Given the description of an element on the screen output the (x, y) to click on. 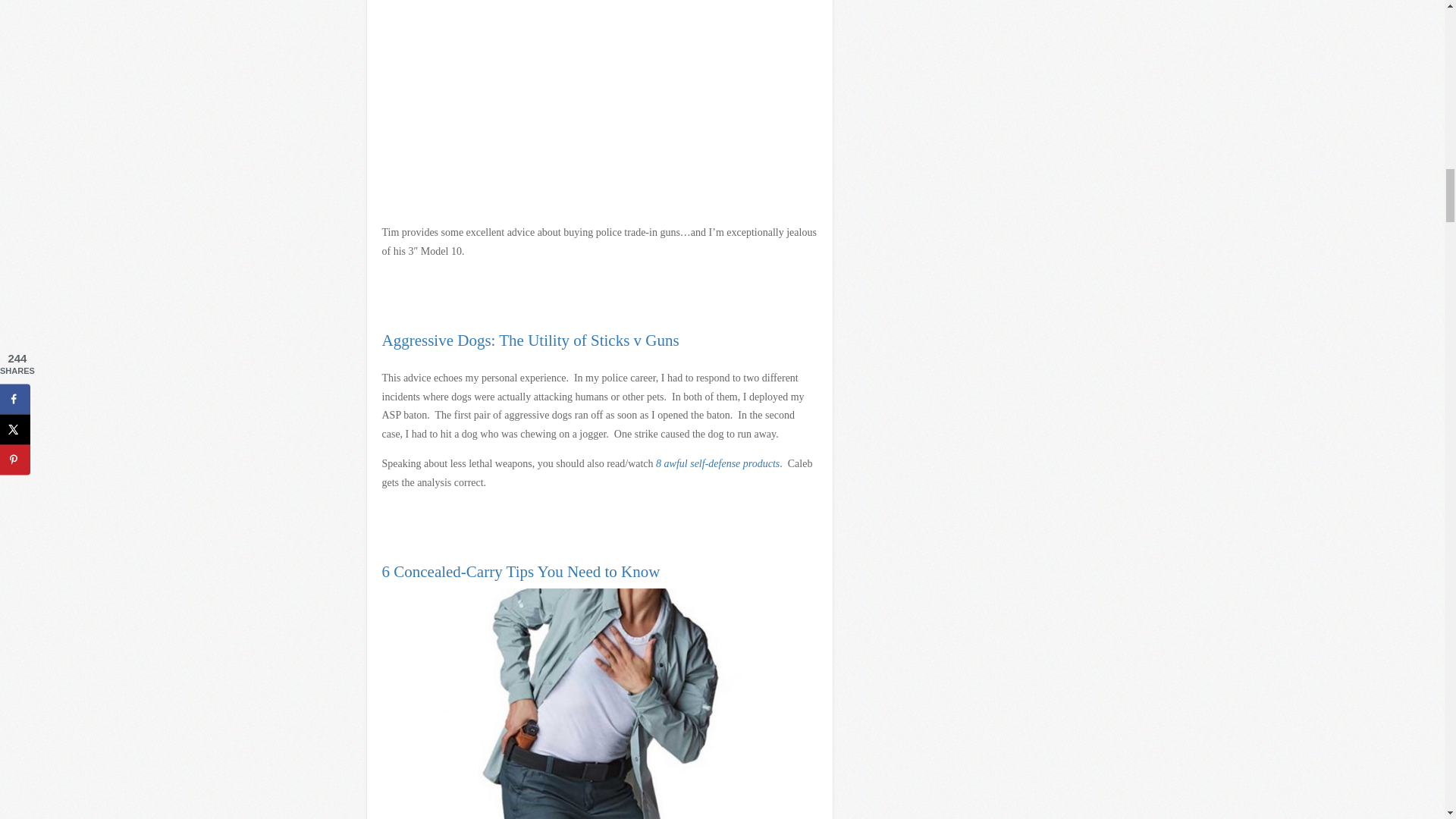
Aggressive Dogs: The Utility of Sticks v Guns (530, 340)
8 awful self-defense products (717, 463)
6 Concealed-Carry Tips You Need to Know (521, 571)
